Given the description of an element on the screen output the (x, y) to click on. 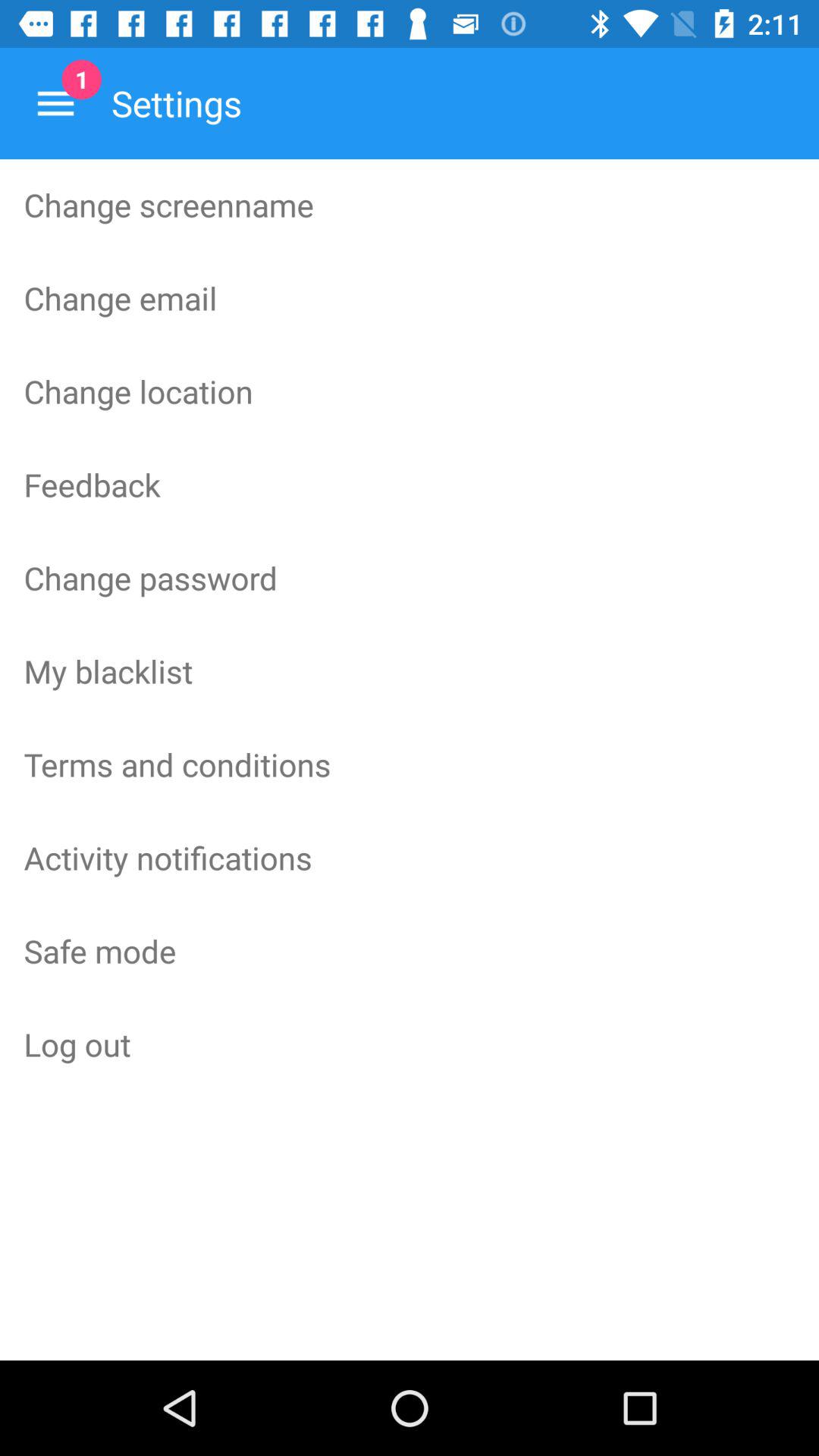
launch safe mode item (409, 950)
